Given the description of an element on the screen output the (x, y) to click on. 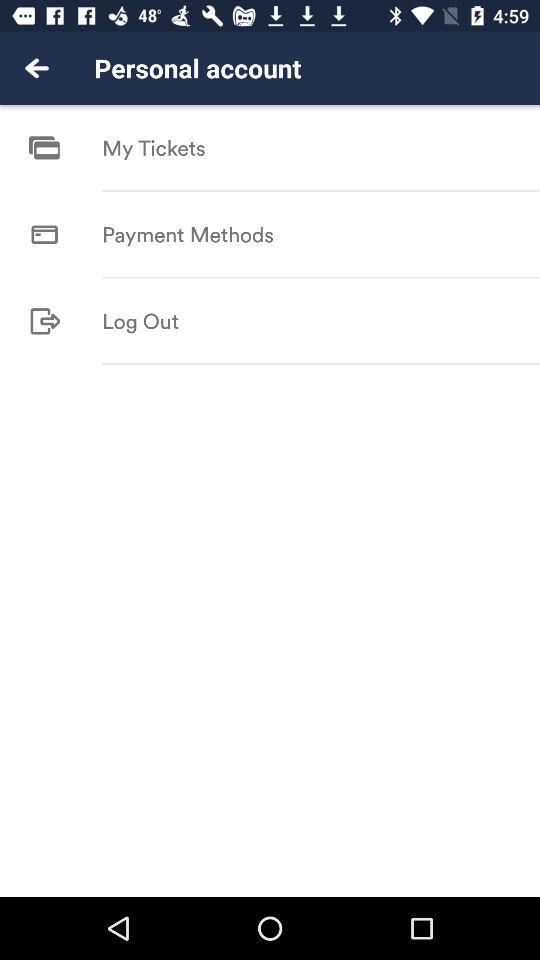
launch log out icon (140, 320)
